Given the description of an element on the screen output the (x, y) to click on. 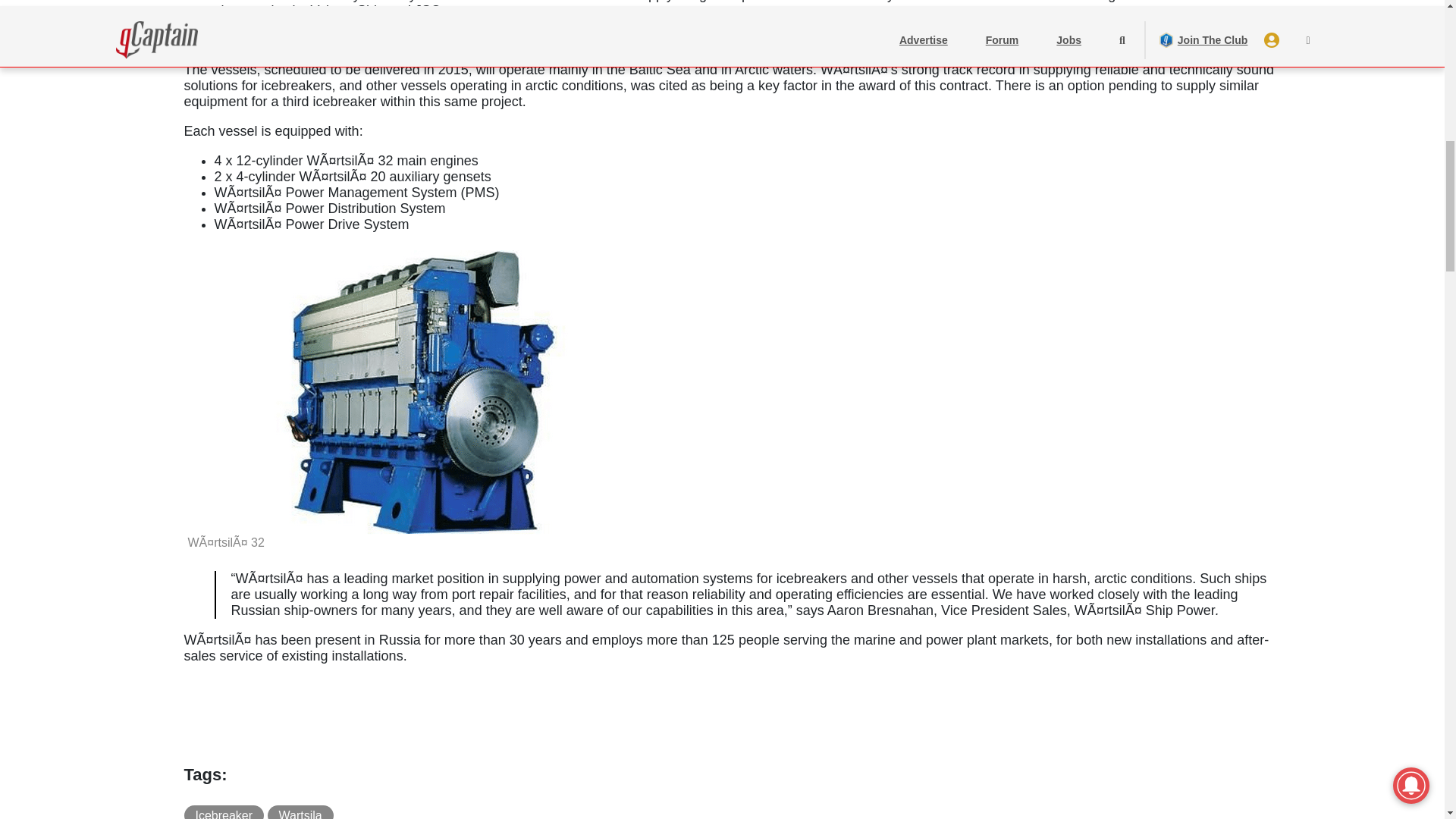
Wartsila (300, 812)
Icebreaker (223, 812)
